Given the description of an element on the screen output the (x, y) to click on. 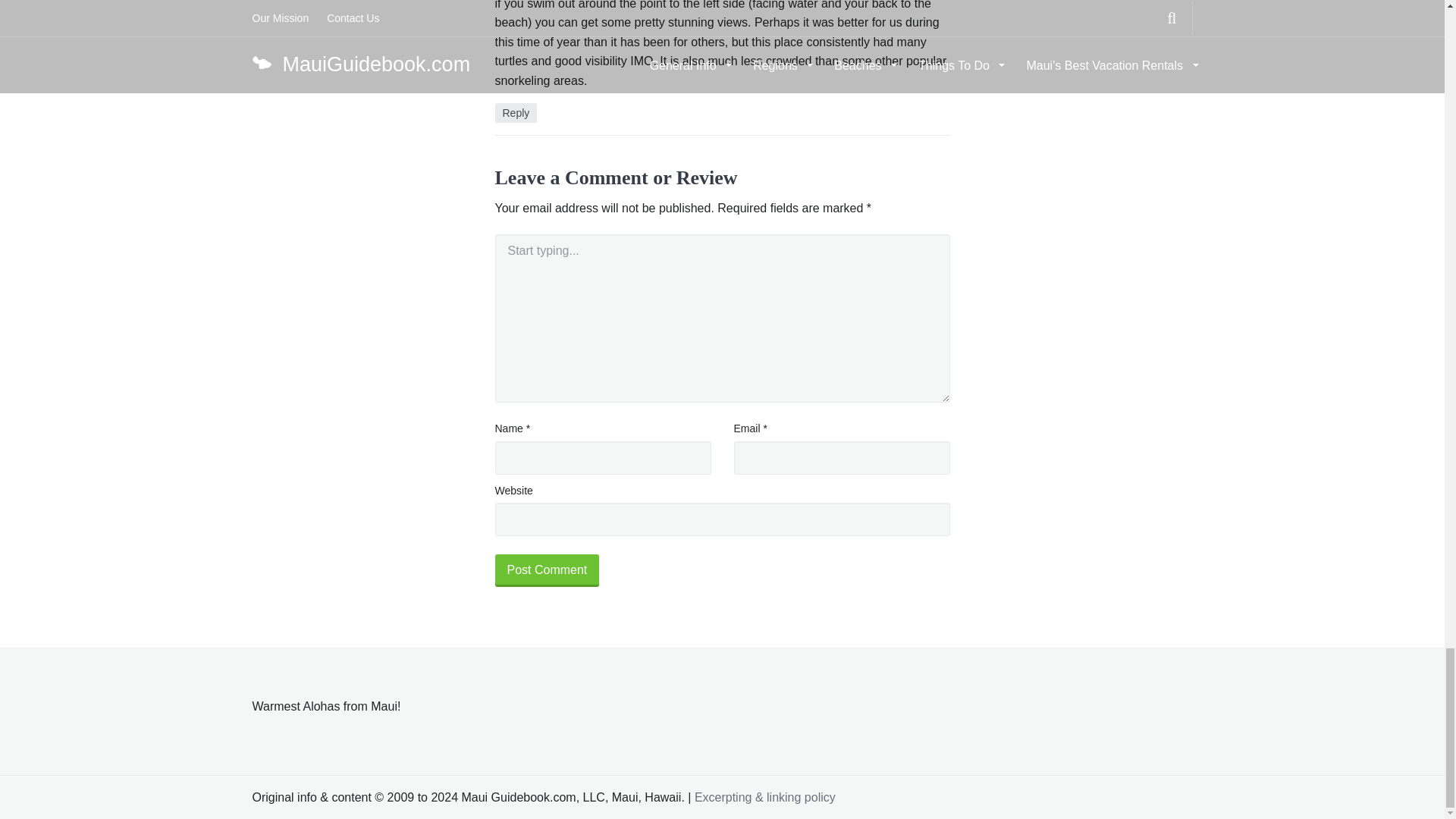
Post Comment (546, 571)
